Given the description of an element on the screen output the (x, y) to click on. 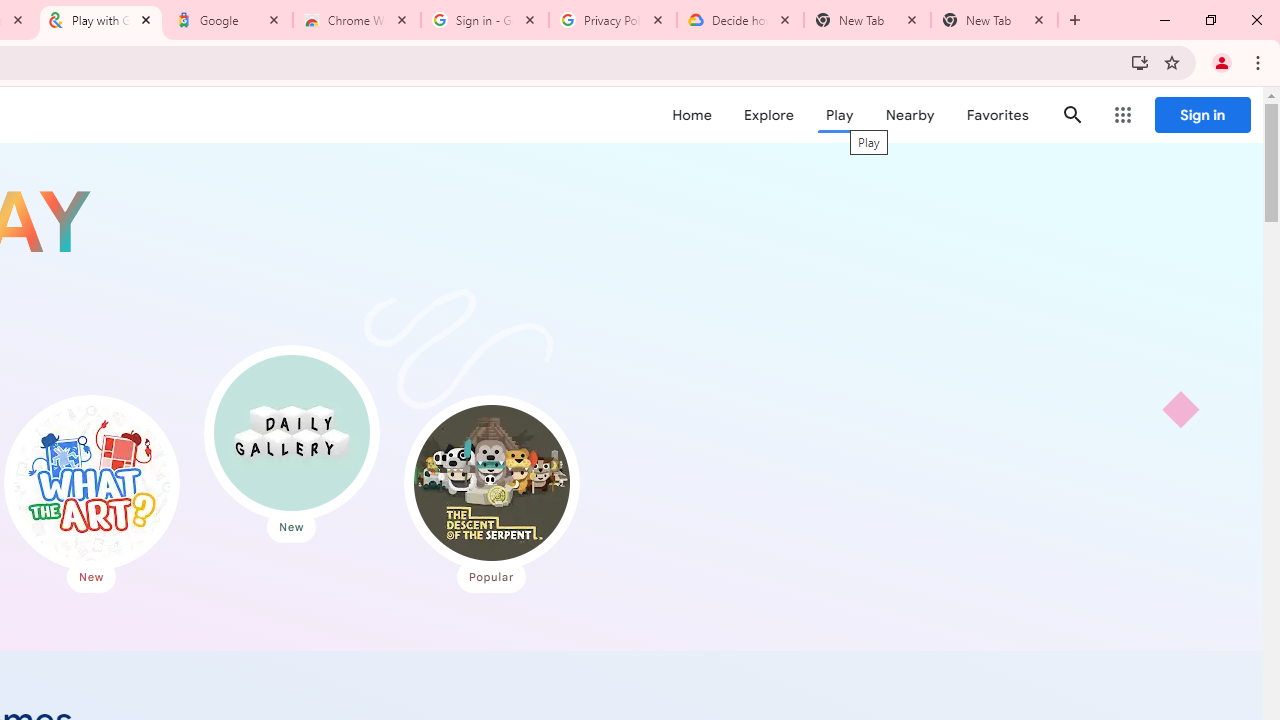
Chrome Web Store - Color themes by Chrome (357, 20)
Home (691, 115)
Nearby (910, 115)
The Descent of the Serpent (491, 482)
New Tab (994, 20)
Sign in - Google Accounts (485, 20)
Install Google Arts & Culture (1139, 62)
Explore (768, 115)
What the Art? (91, 482)
